Given the description of an element on the screen output the (x, y) to click on. 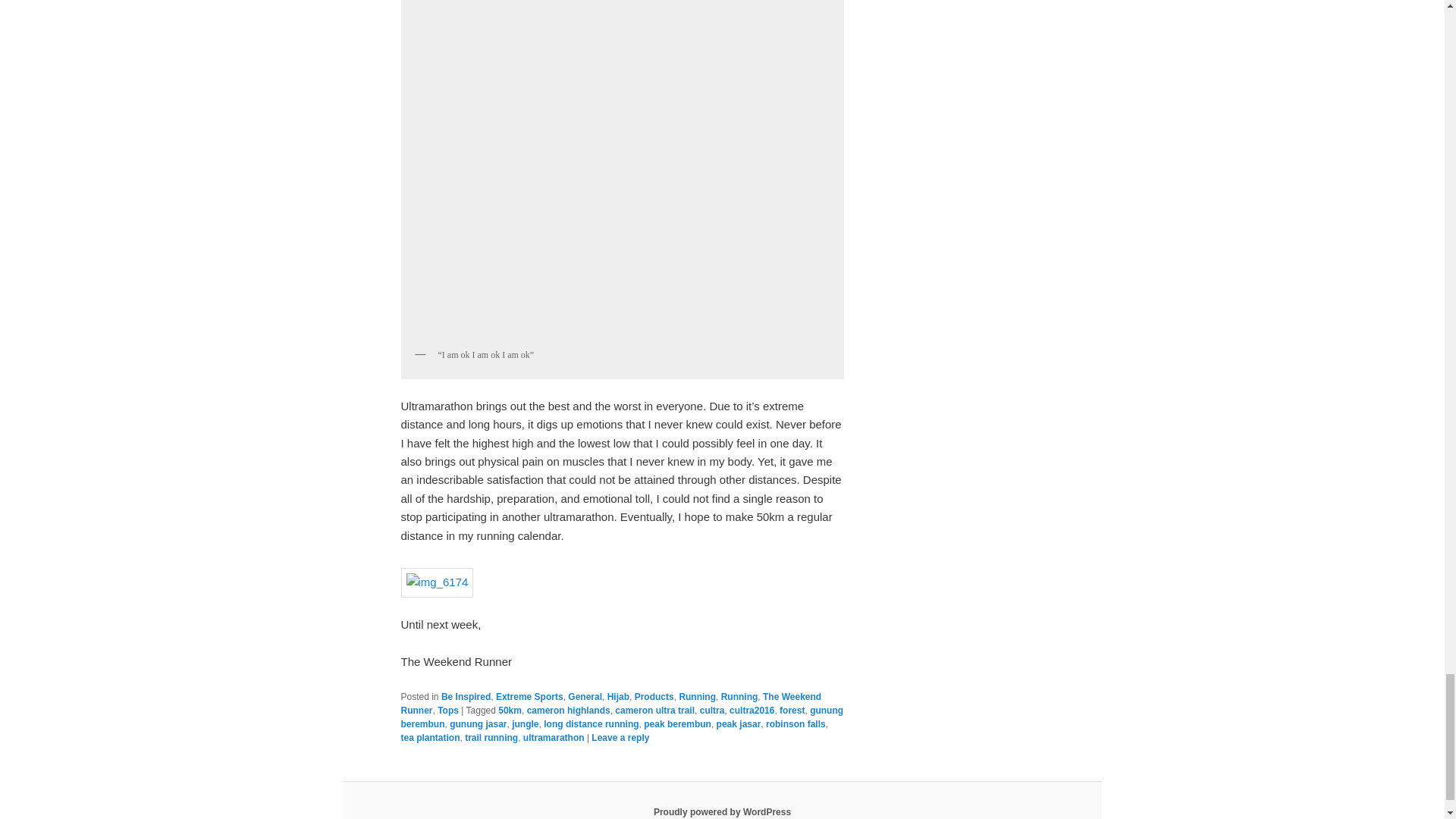
Running (739, 696)
Running (697, 696)
General (584, 696)
Semantic Personal Publishing Platform (721, 811)
Be Inspired (465, 696)
Hijab (617, 696)
Extreme Sports (529, 696)
Products (654, 696)
